Given the description of an element on the screen output the (x, y) to click on. 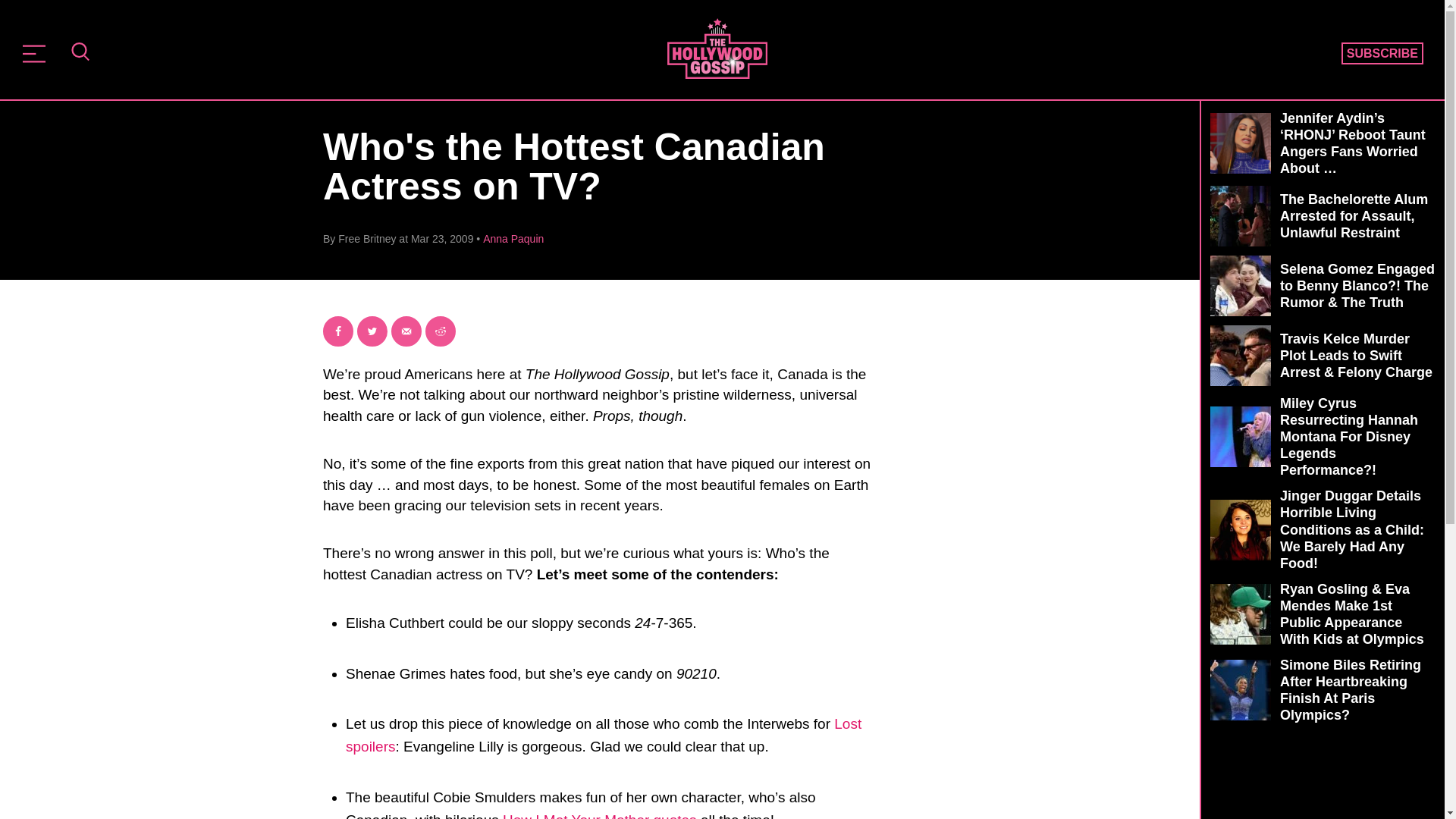
The Hollywood Gossip (716, 48)
Anna Paquin (513, 238)
Share on Facebook (338, 331)
SUBSCRIBE (1381, 53)
Share on Twitter (371, 331)
Free Britney (366, 238)
